Given the description of an element on the screen output the (x, y) to click on. 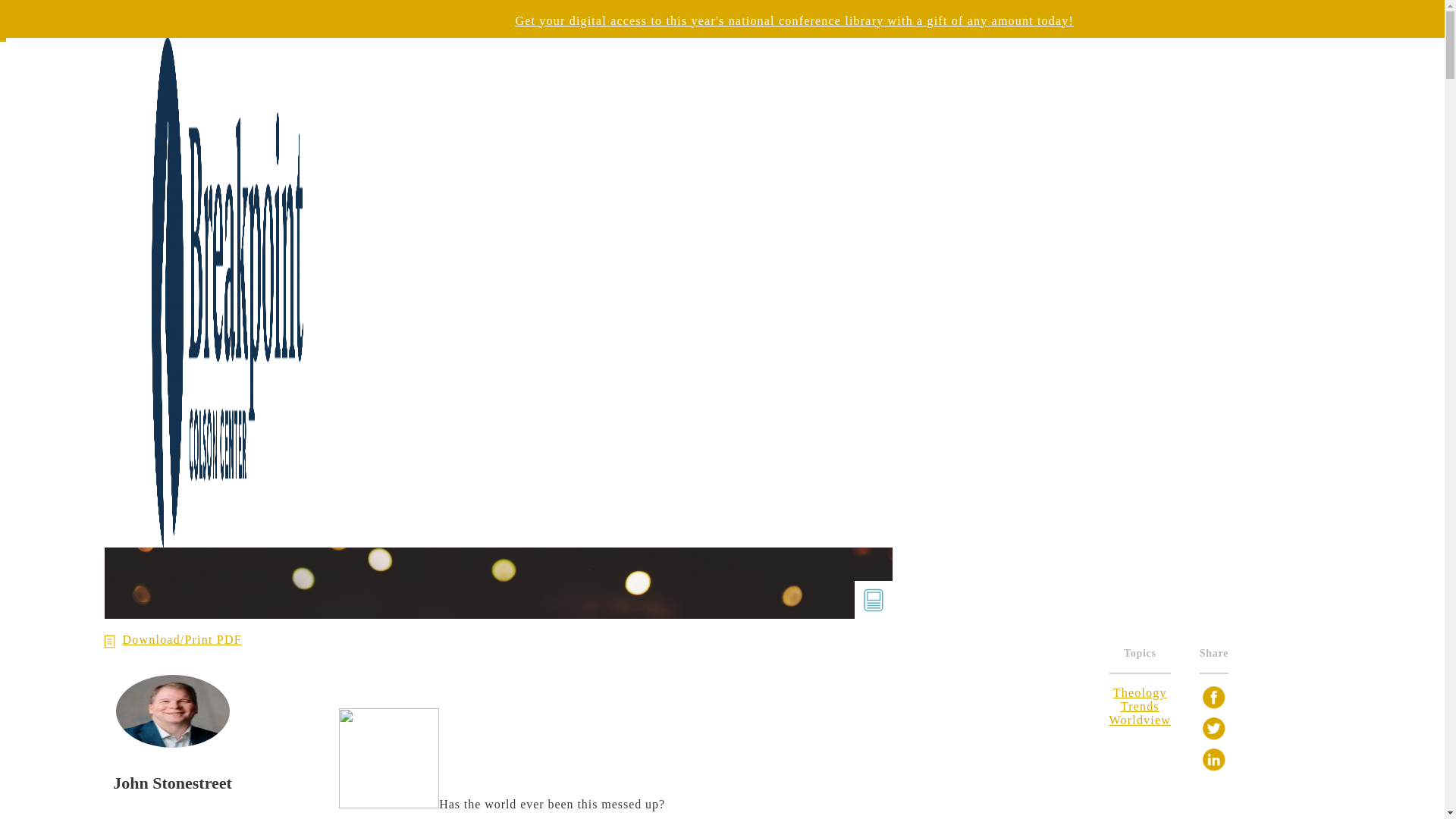
Worldview (1140, 719)
Breakpoint (182, 43)
Theology (1140, 692)
MARRIAGE, FAMILY, AND SOCIETY (1025, 150)
Trends (1139, 706)
